Given the description of an element on the screen output the (x, y) to click on. 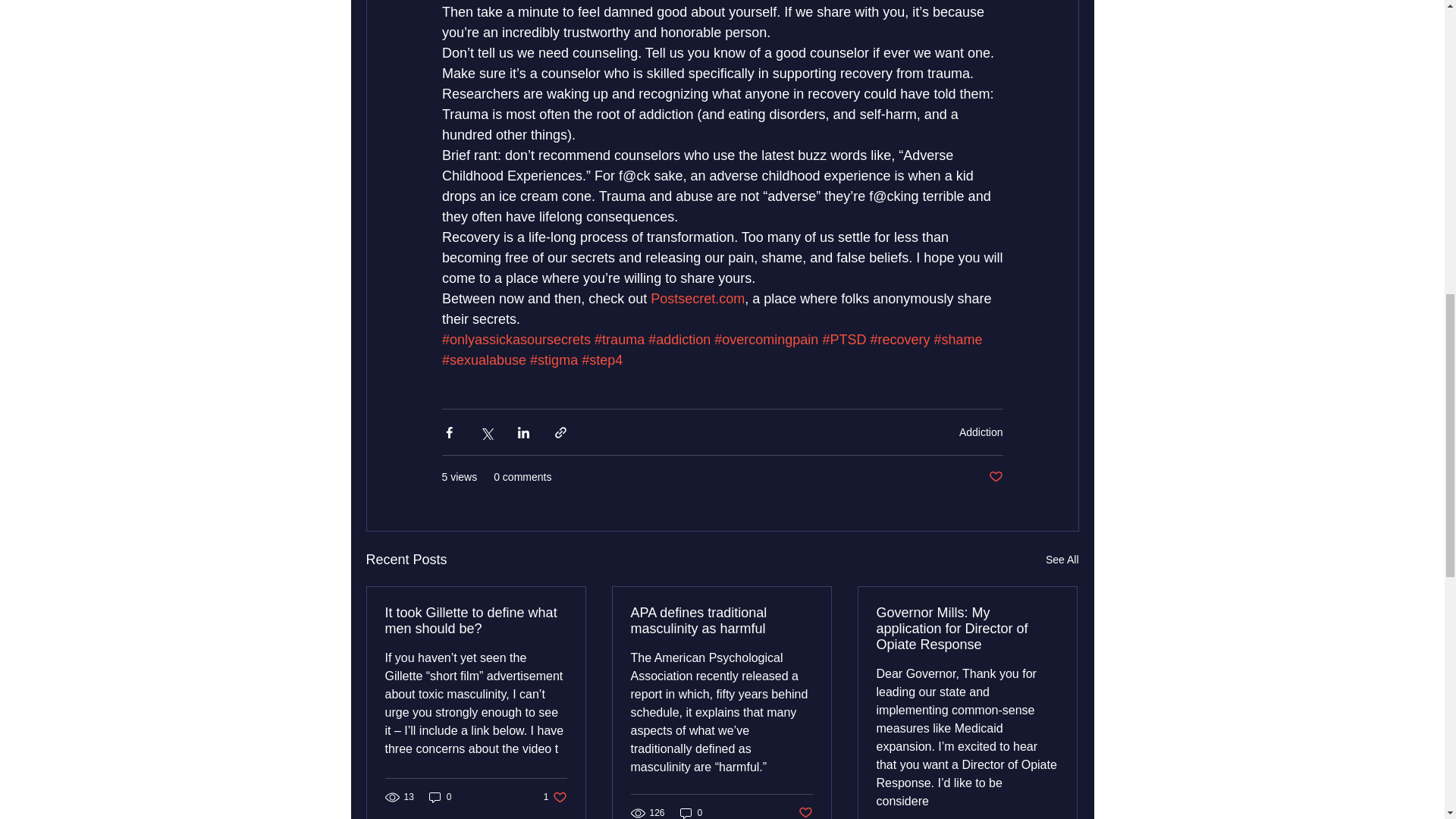
0 (440, 797)
It took Gillette to define what men should be?  (476, 621)
See All (1061, 559)
Postsecret.com (697, 298)
Post not marked as liked (995, 477)
Addiction (981, 431)
